Given the description of an element on the screen output the (x, y) to click on. 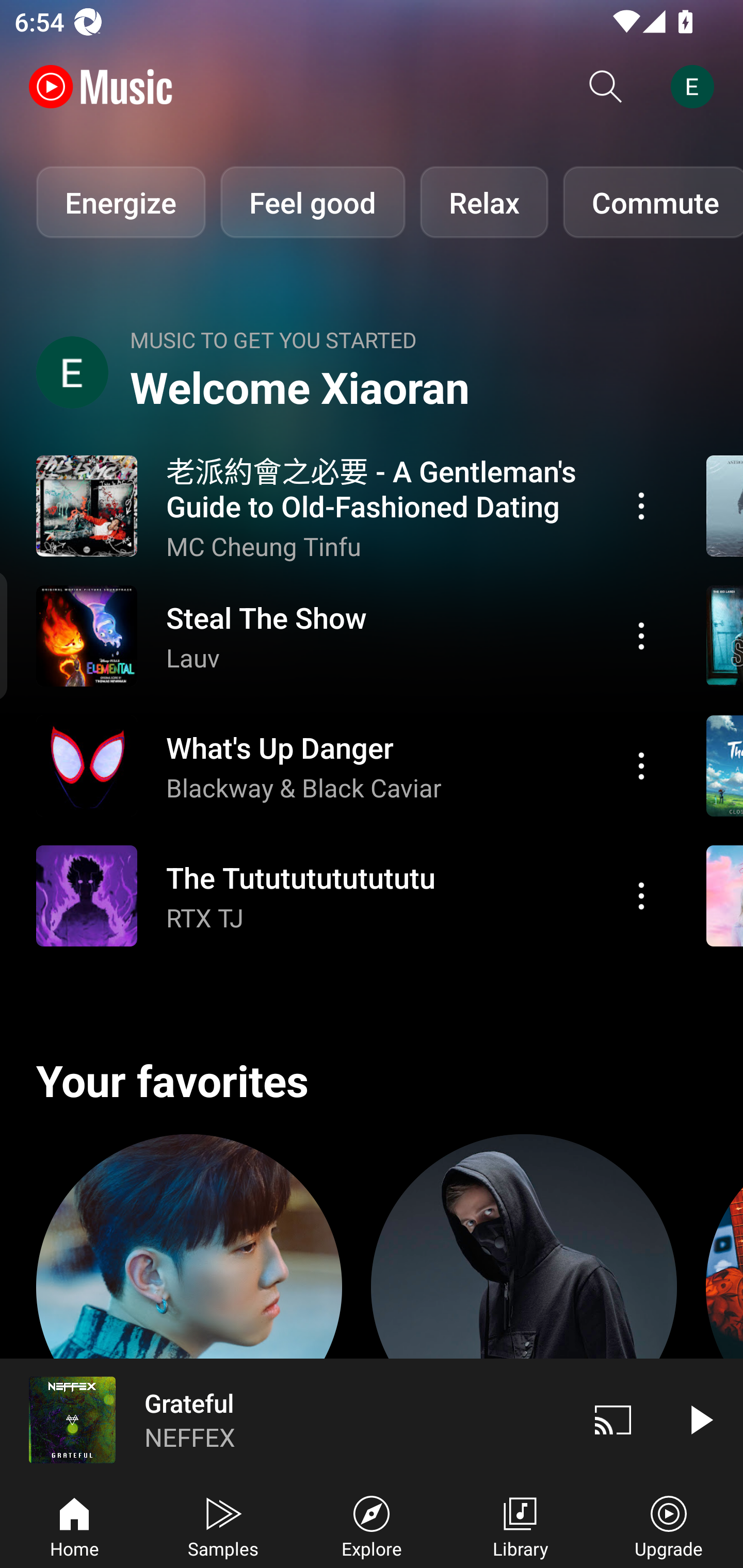
Search (605, 86)
Account (696, 86)
Action menu (349, 505)
Action menu (641, 505)
Action menu (349, 635)
Action menu (641, 635)
Action menu (349, 765)
Action menu (641, 765)
Action menu (349, 896)
Action menu (641, 896)
Grateful NEFFEX (284, 1419)
Cast. Disconnected (612, 1419)
Play video (699, 1419)
Home (74, 1524)
Samples (222, 1524)
Explore (371, 1524)
Library (519, 1524)
Upgrade (668, 1524)
